Given the description of an element on the screen output the (x, y) to click on. 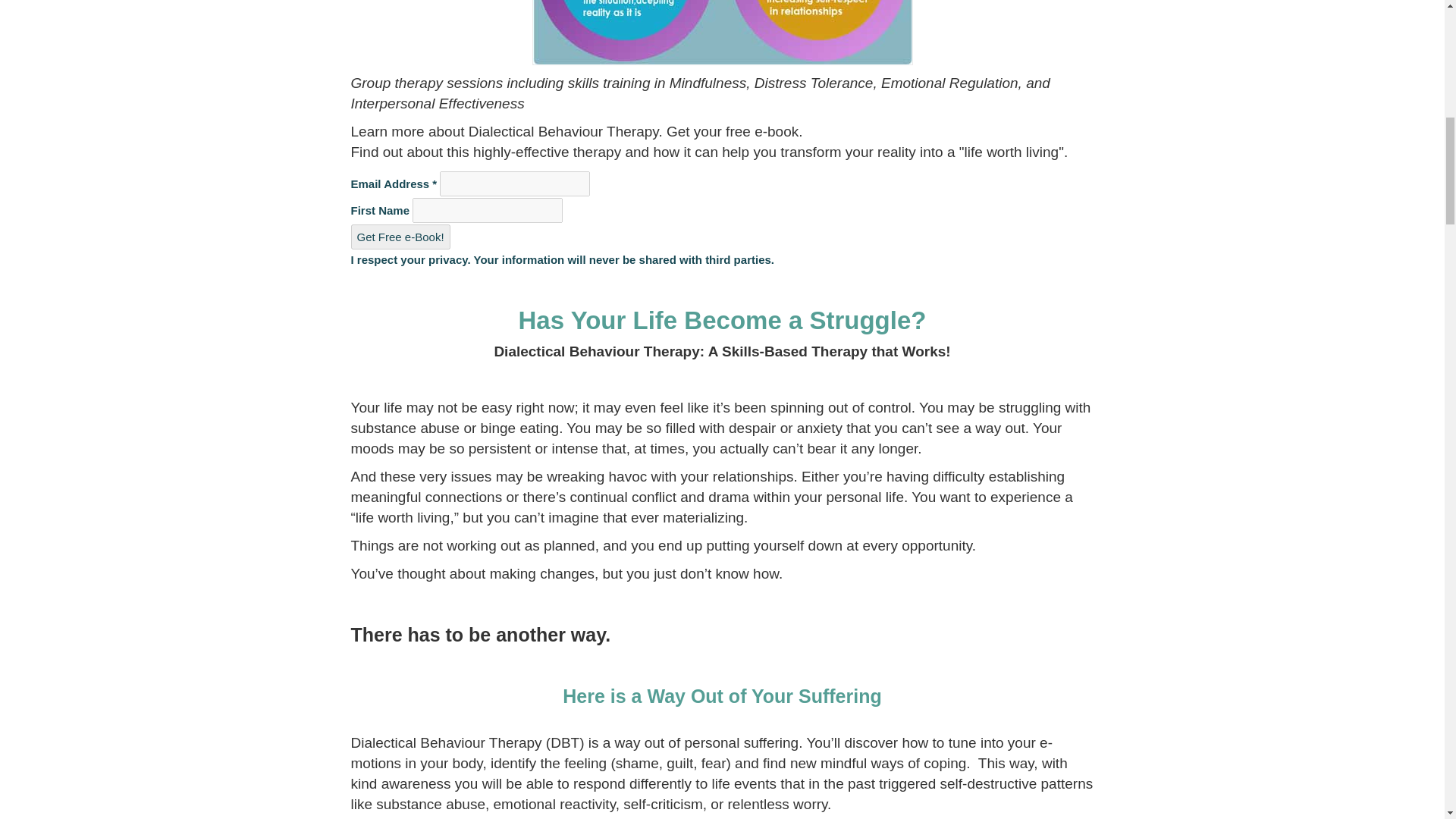
Get Free e-Book! (399, 236)
Get Free e-Book! (399, 236)
